Given the description of an element on the screen output the (x, y) to click on. 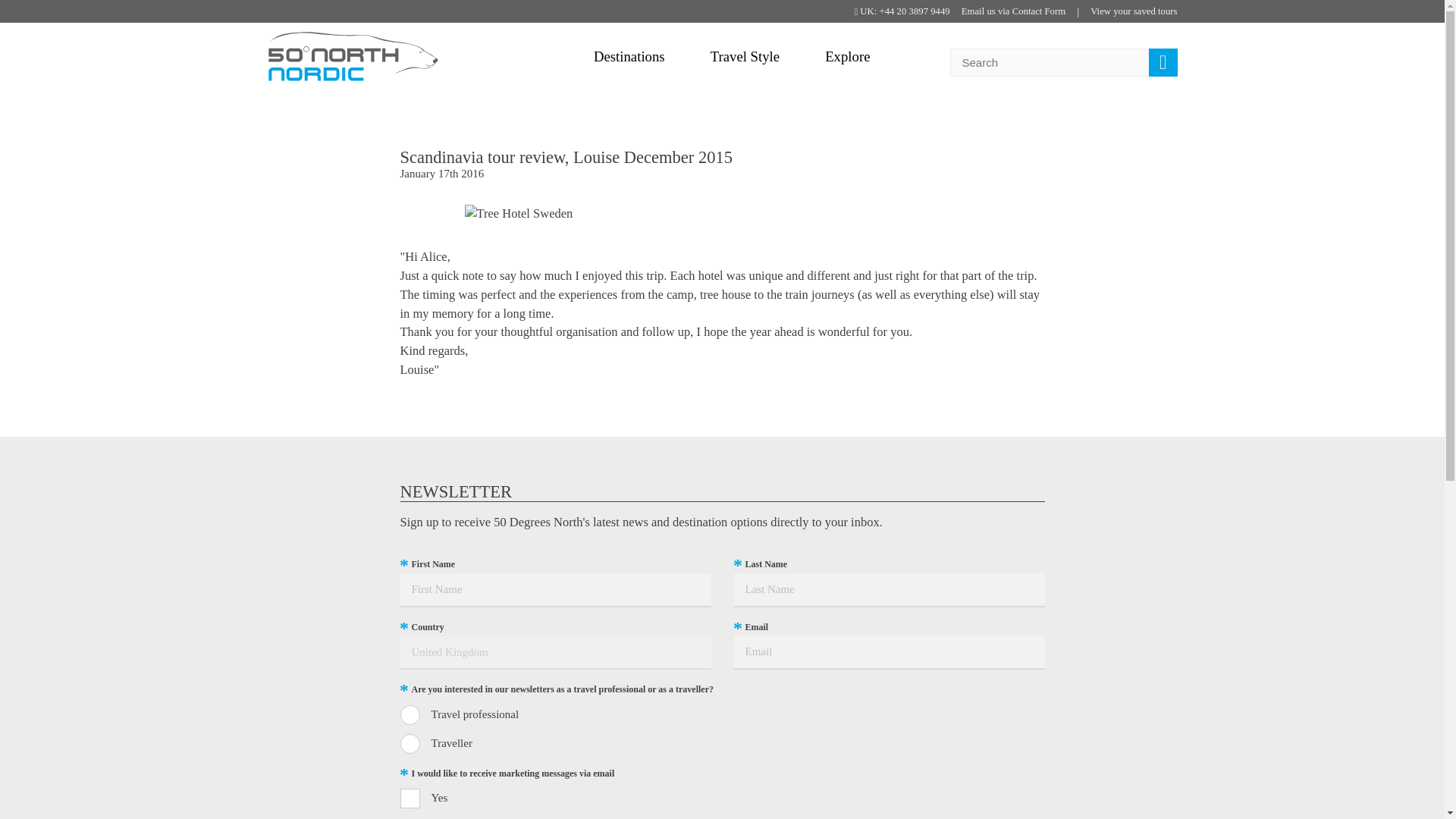
00NVg000000RE25 (410, 743)
Travel Style (745, 56)
00NVg000000RE0T (410, 714)
Fifty Degrees North (352, 56)
Destinations (629, 56)
View your saved tours (1133, 11)
1 (410, 798)
Email us via Contact Form (1012, 11)
